Given the description of an element on the screen output the (x, y) to click on. 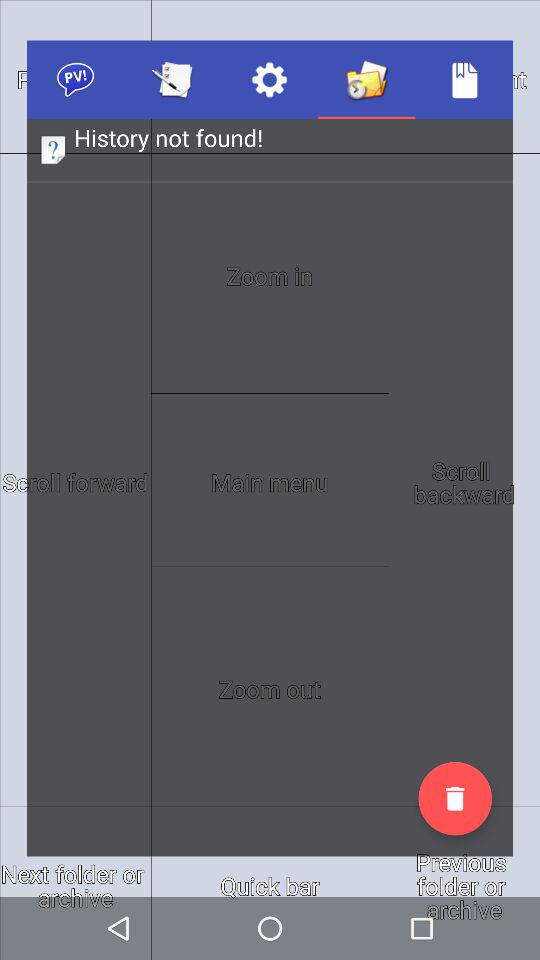
delete button (455, 798)
